Given the description of an element on the screen output the (x, y) to click on. 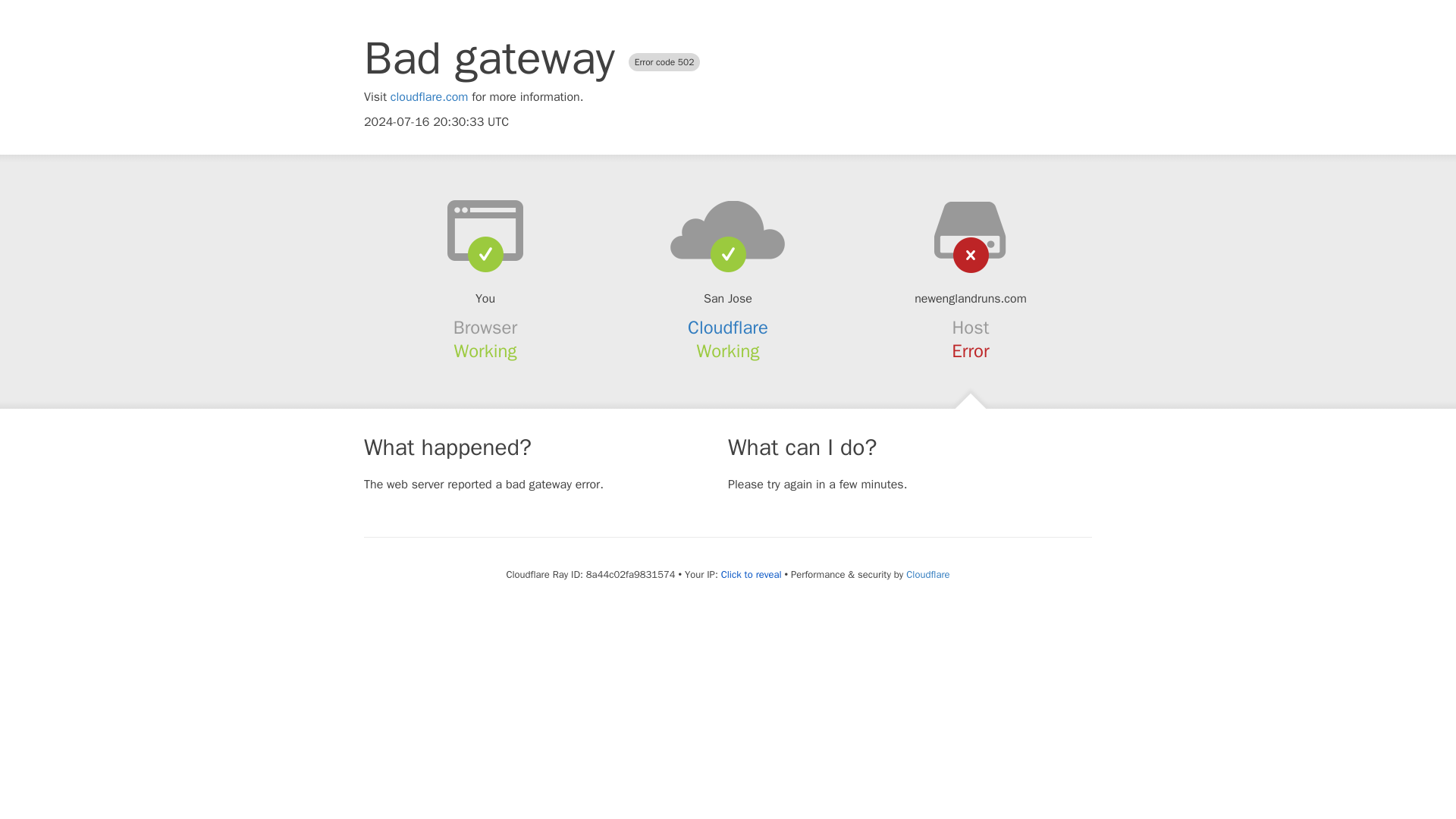
Click to reveal (750, 574)
Cloudflare (927, 574)
Cloudflare (727, 327)
cloudflare.com (429, 96)
